Given the description of an element on the screen output the (x, y) to click on. 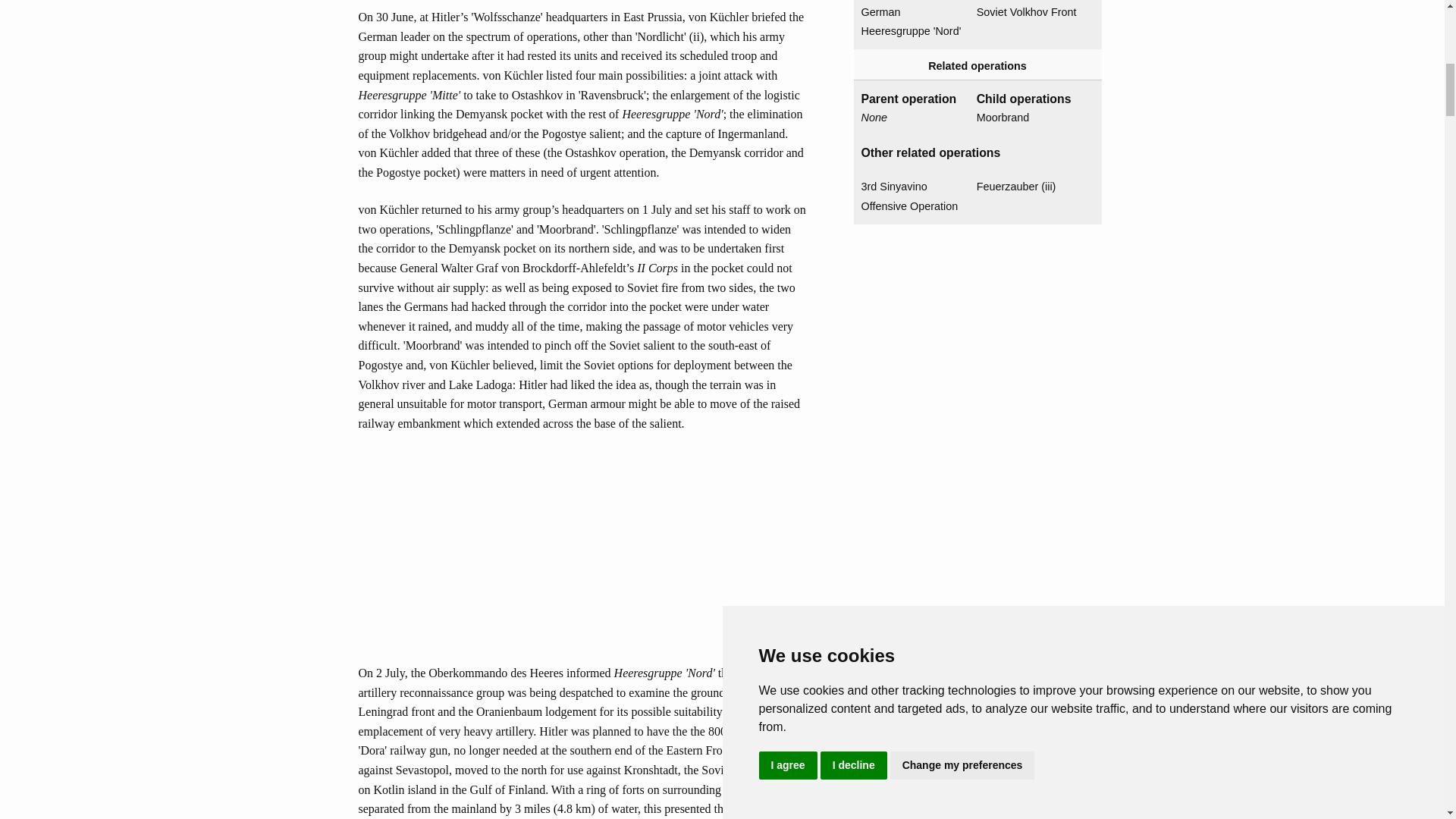
3rd Sinyavino Offensive Operation (913, 196)
German 18th Army (913, 1)
Soviet Volkhov Front (1028, 12)
Moorbrand (1028, 117)
Advertisement (583, 557)
Soviet Leningrad Front (1028, 1)
German Heeresgruppe 'Nord' (913, 22)
